Given the description of an element on the screen output the (x, y) to click on. 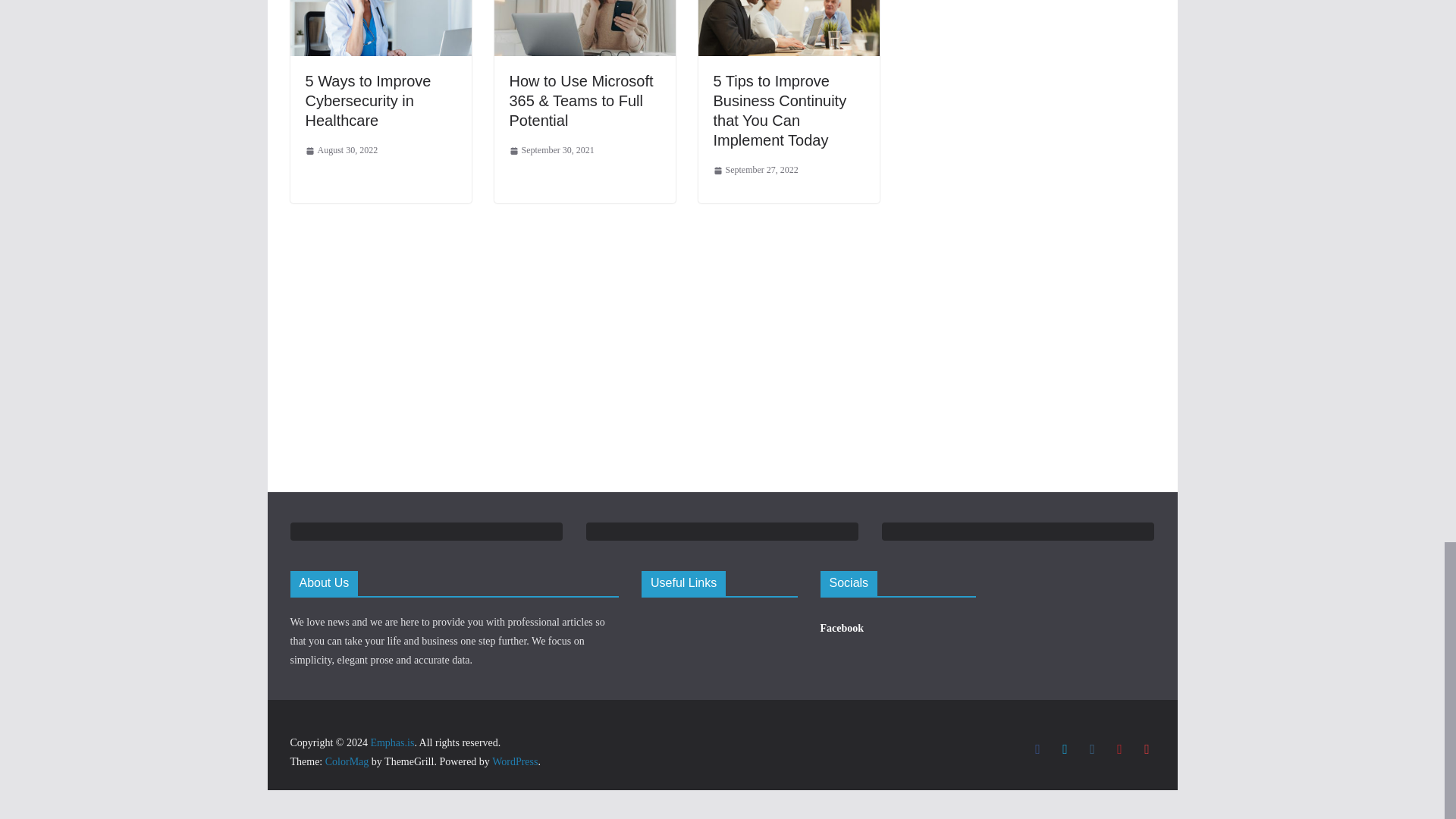
September 27, 2022 (755, 170)
10:01 pm (340, 150)
September 30, 2021 (551, 150)
5 Ways to Improve Cybersecurity in Healthcare (367, 100)
5 Ways to Improve Cybersecurity in Healthcare (367, 100)
August 30, 2022 (340, 150)
